Given the description of an element on the screen output the (x, y) to click on. 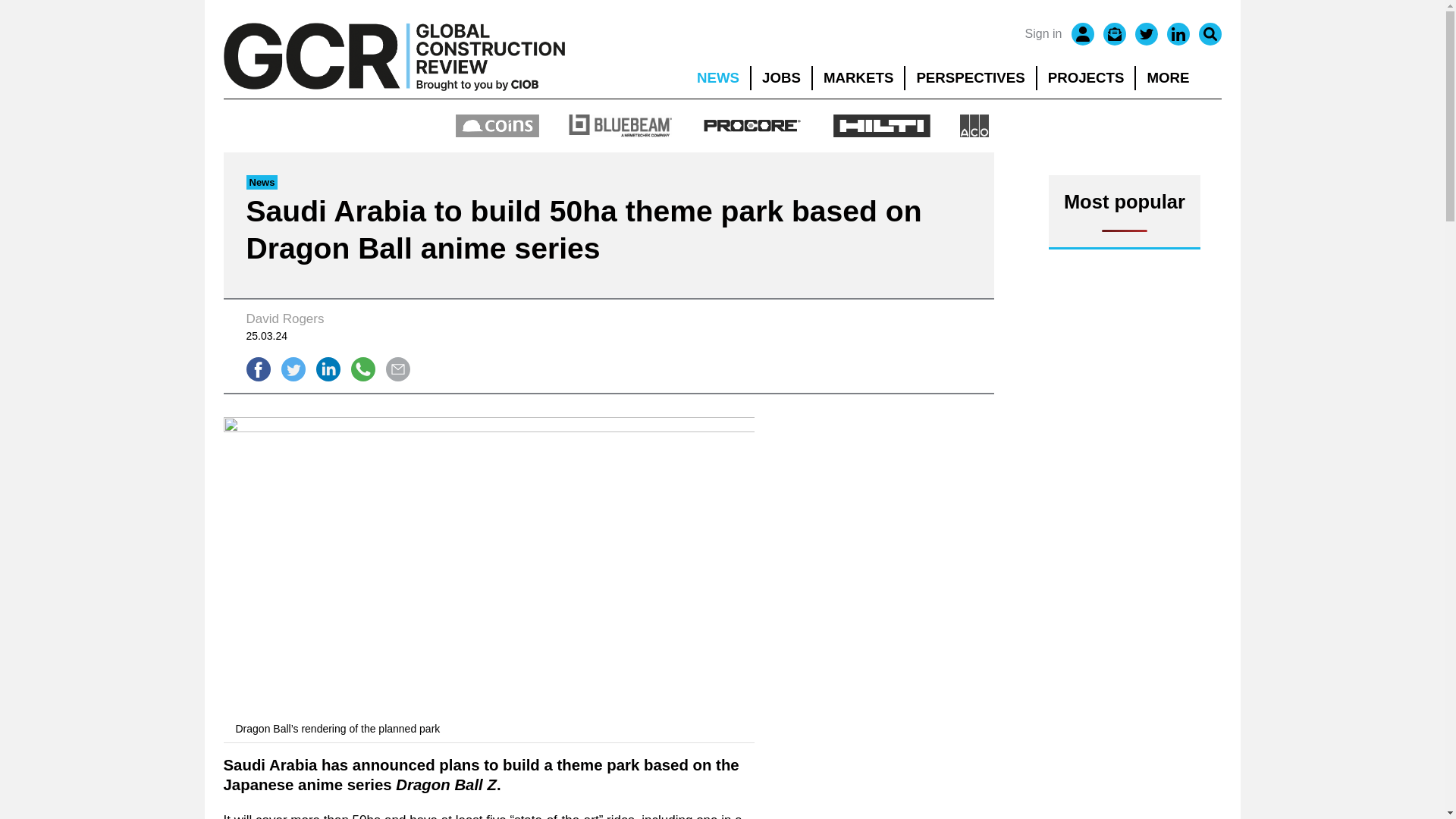
Sign in (1043, 34)
MORE (1178, 78)
Share on WhatsApp (362, 369)
Tweet (292, 369)
Send email (397, 369)
NEWS (717, 78)
PROJECTS (1085, 78)
PERSPECTIVES (970, 78)
JOBS (780, 78)
MARKETS (858, 78)
